Given the description of an element on the screen output the (x, y) to click on. 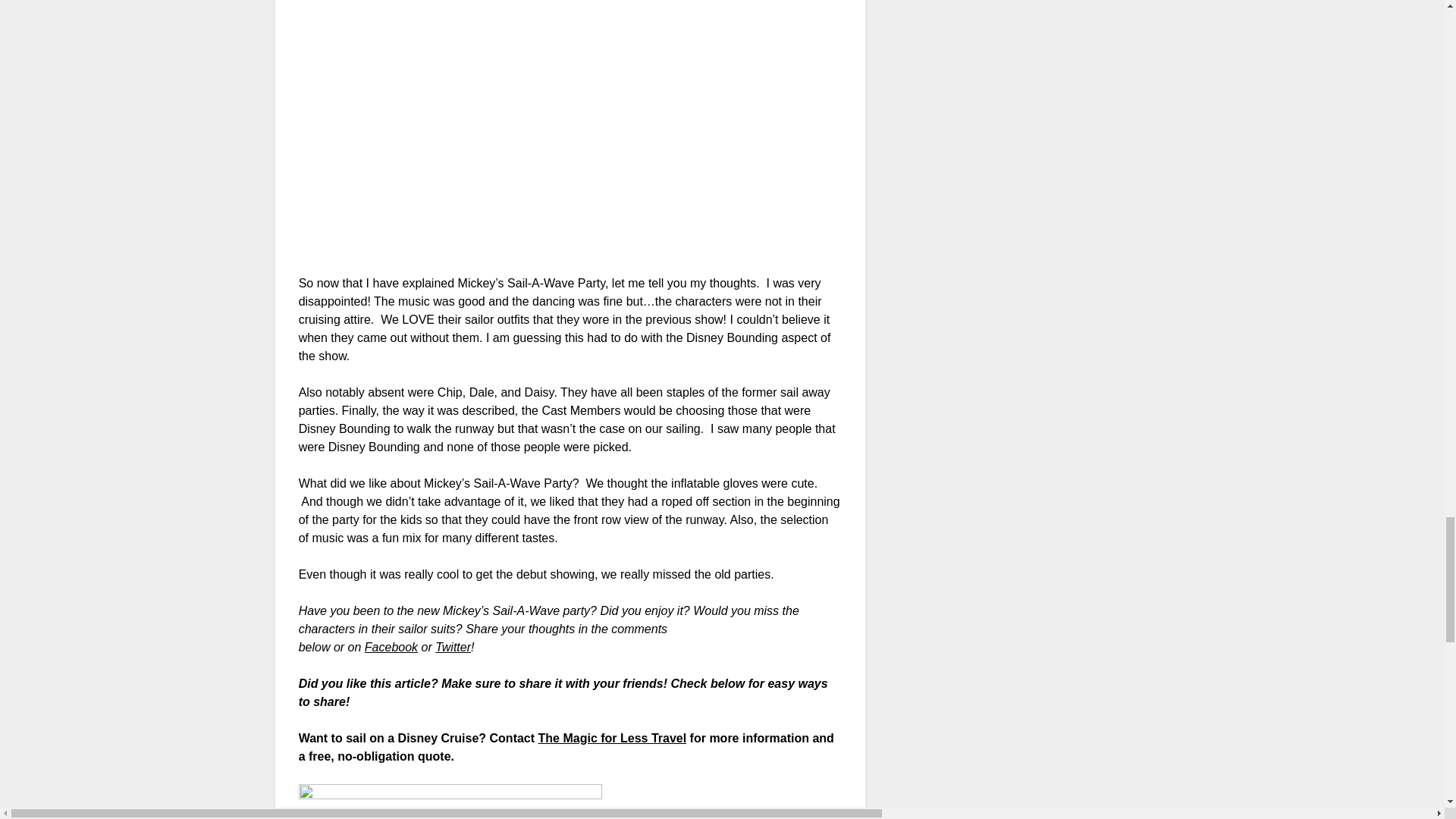
The Magic for Less Travel (612, 738)
Facebook (391, 646)
Twitter (452, 646)
